Given the description of an element on the screen output the (x, y) to click on. 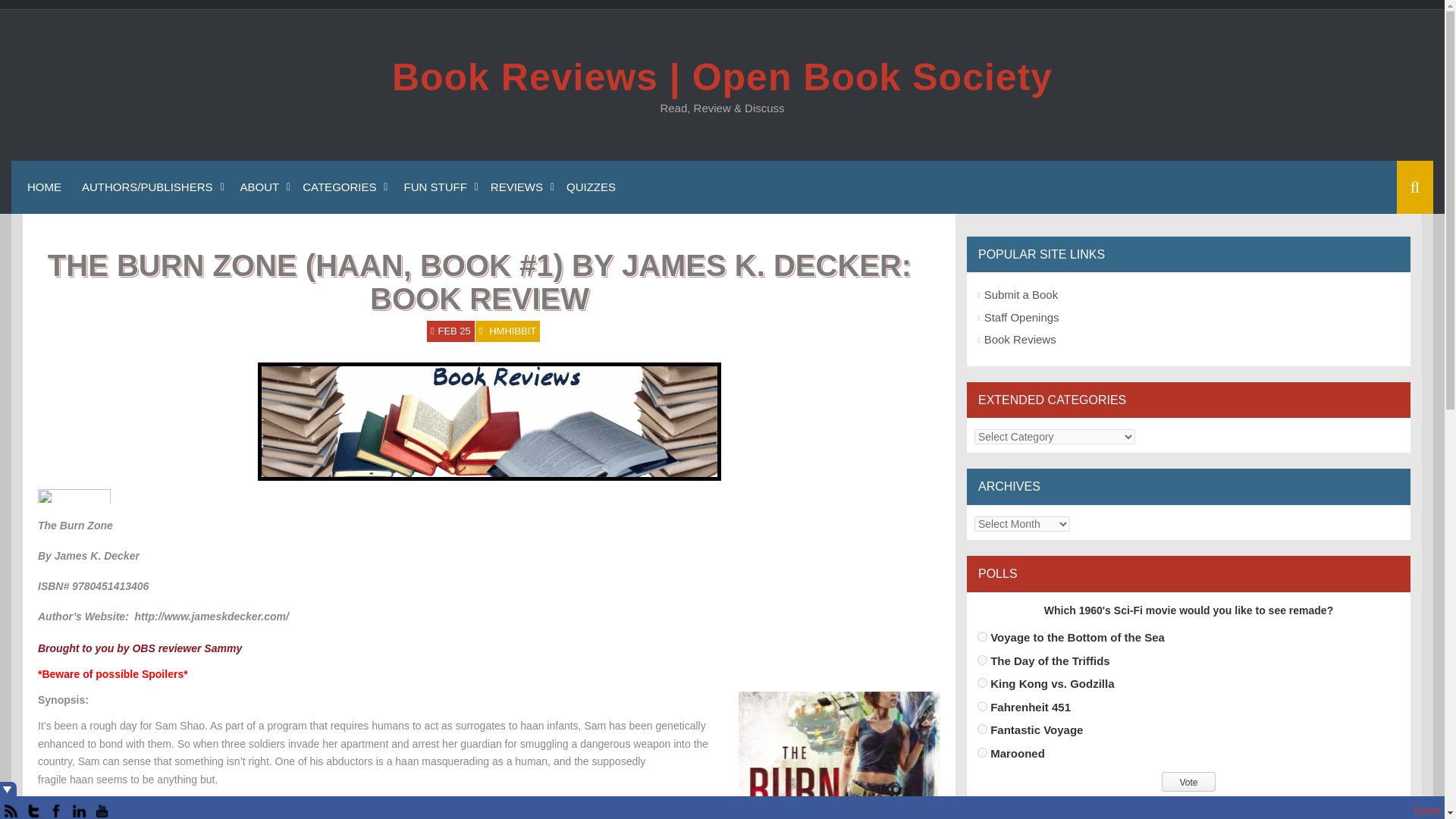
322 (981, 682)
View Results Of This Poll (1188, 806)
   Vote    (1187, 781)
320 (981, 636)
book-review-banner-2 (488, 421)
323 (981, 706)
HOME (41, 187)
the-burn-zone-haan-james-k-decker (839, 755)
324 (981, 728)
321 (981, 660)
3 Star rating (73, 495)
325 (981, 752)
